Given the description of an element on the screen output the (x, y) to click on. 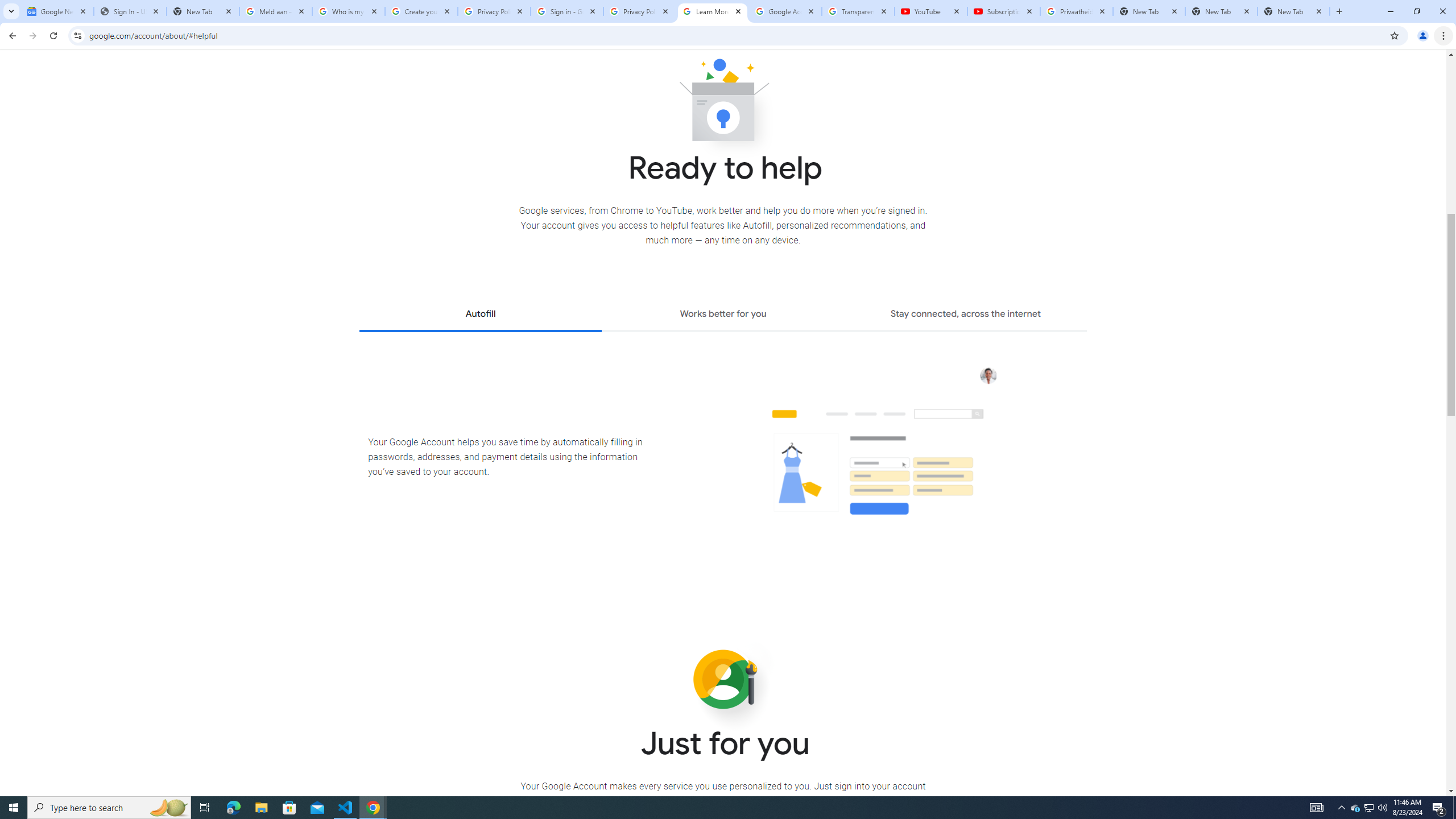
Google Account (785, 11)
Sign in - Google Accounts (566, 11)
Works better for you (722, 315)
New Tab (1221, 11)
Create your Google Account (421, 11)
New Tab (1293, 11)
Stay connected, across the internet (965, 315)
